Given the description of an element on the screen output the (x, y) to click on. 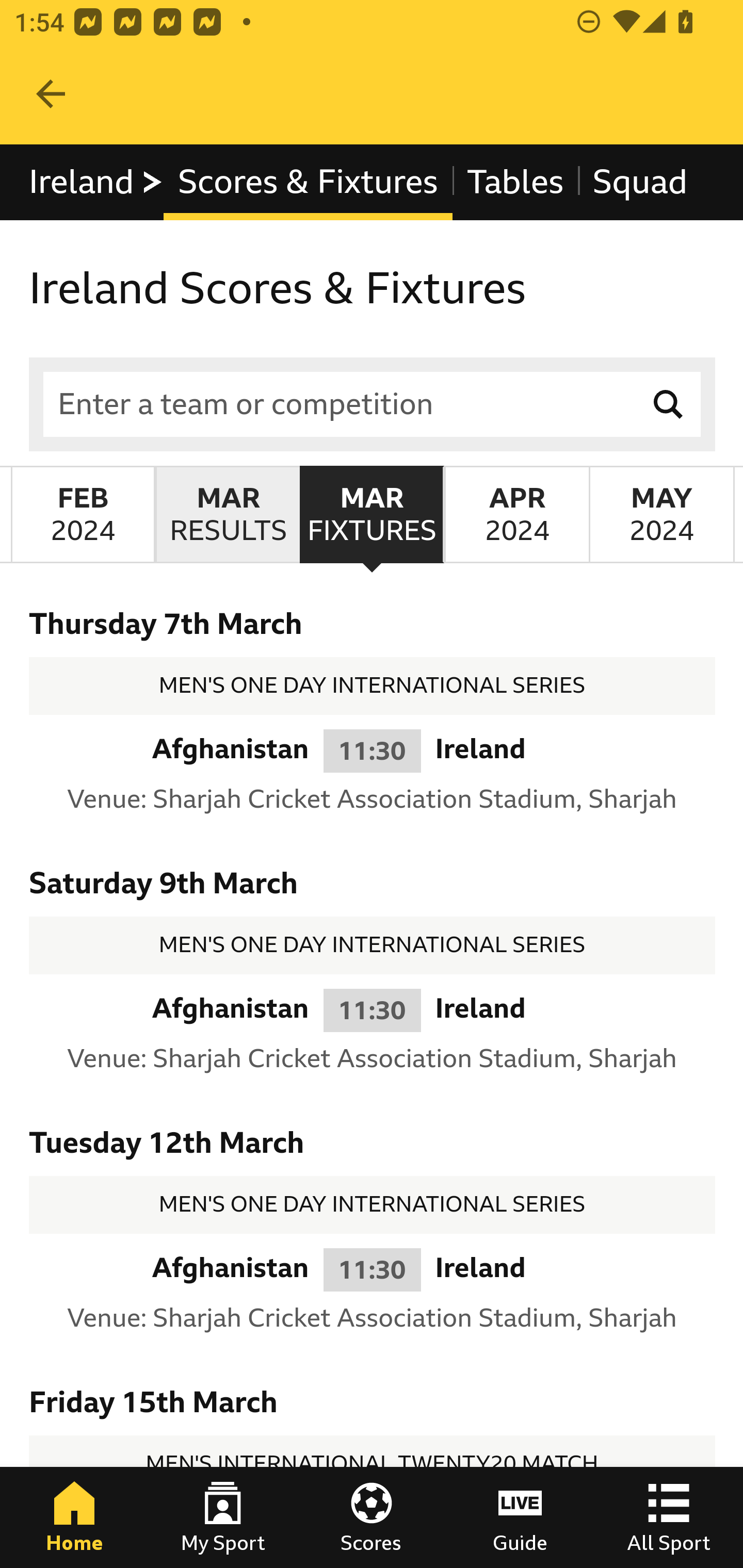
Navigate up (50, 93)
Ireland  (96, 181)
Scores & Fixtures (307, 181)
Tables (515, 181)
Squad (640, 181)
Search (669, 404)
February2024 February 2024 (83, 513)
MarchRESULTS March RESULTS (227, 513)
MarchFIXTURES, Selected March FIXTURES , Selected (371, 513)
April2024 April 2024 (516, 513)
May2024 May 2024 (661, 513)
My Sport (222, 1517)
Scores (371, 1517)
Guide (519, 1517)
All Sport (668, 1517)
